Given the description of an element on the screen output the (x, y) to click on. 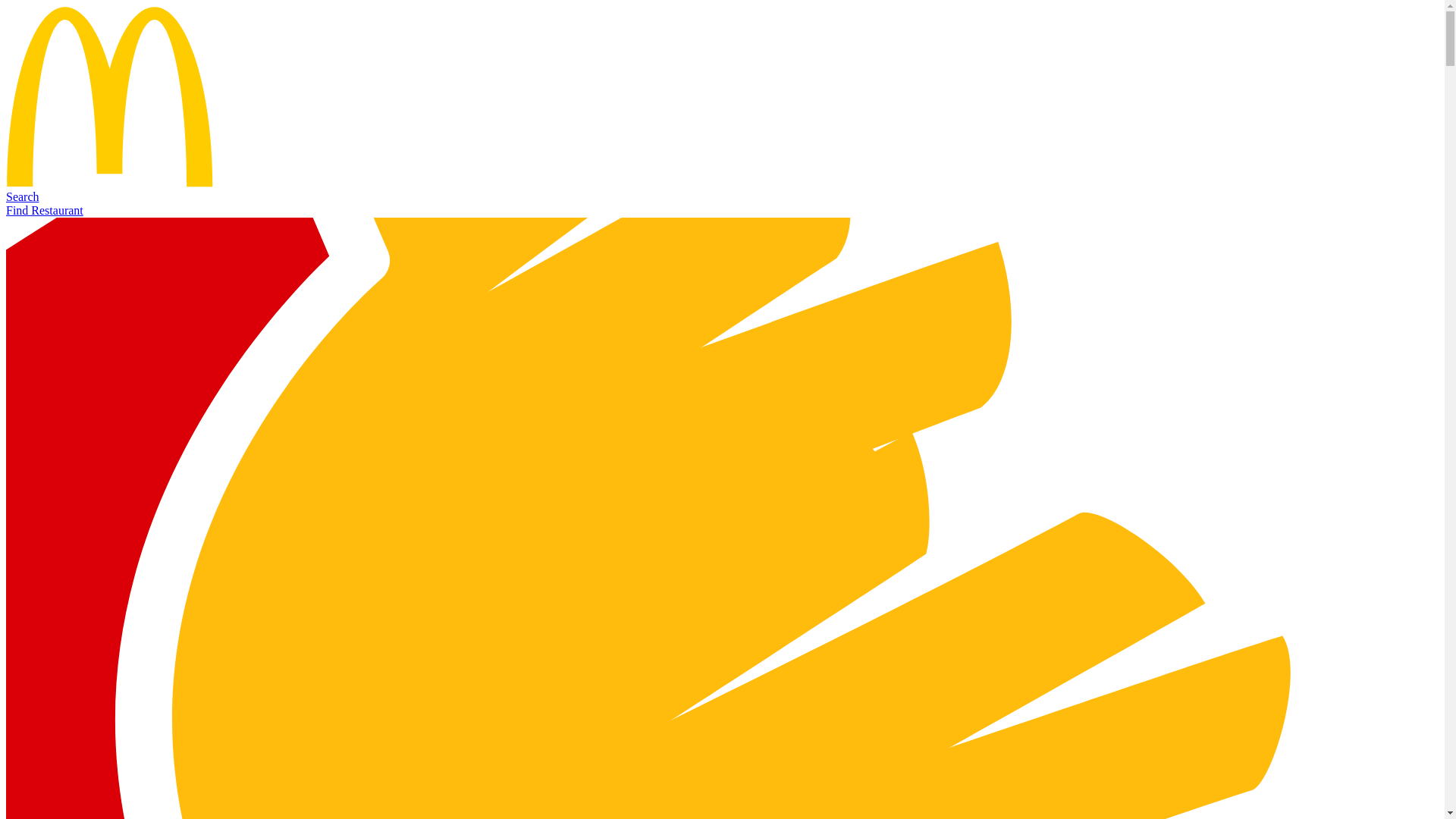
Find Restaurant Element type: text (44, 209)
Search Element type: text (22, 195)
